Given the description of an element on the screen output the (x, y) to click on. 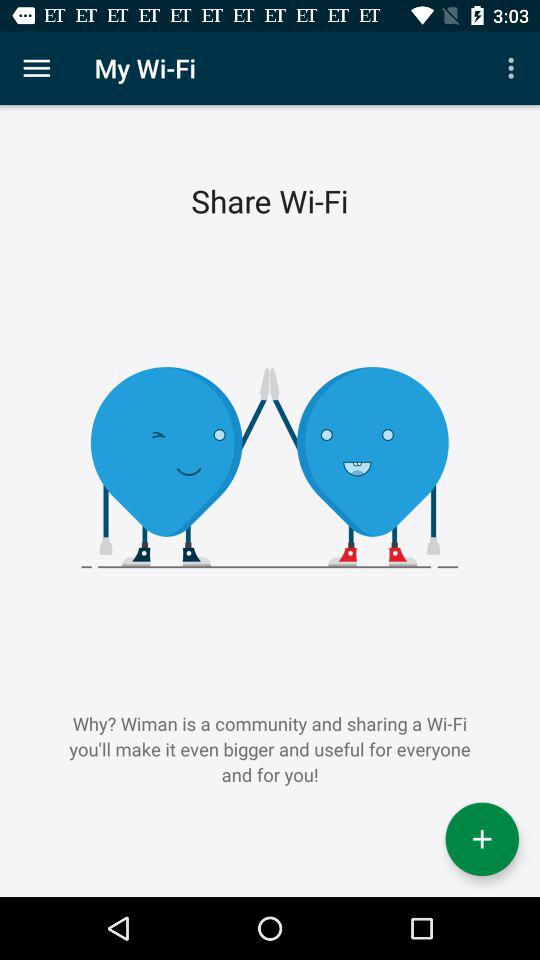
see the menu bar (36, 68)
